Given the description of an element on the screen output the (x, y) to click on. 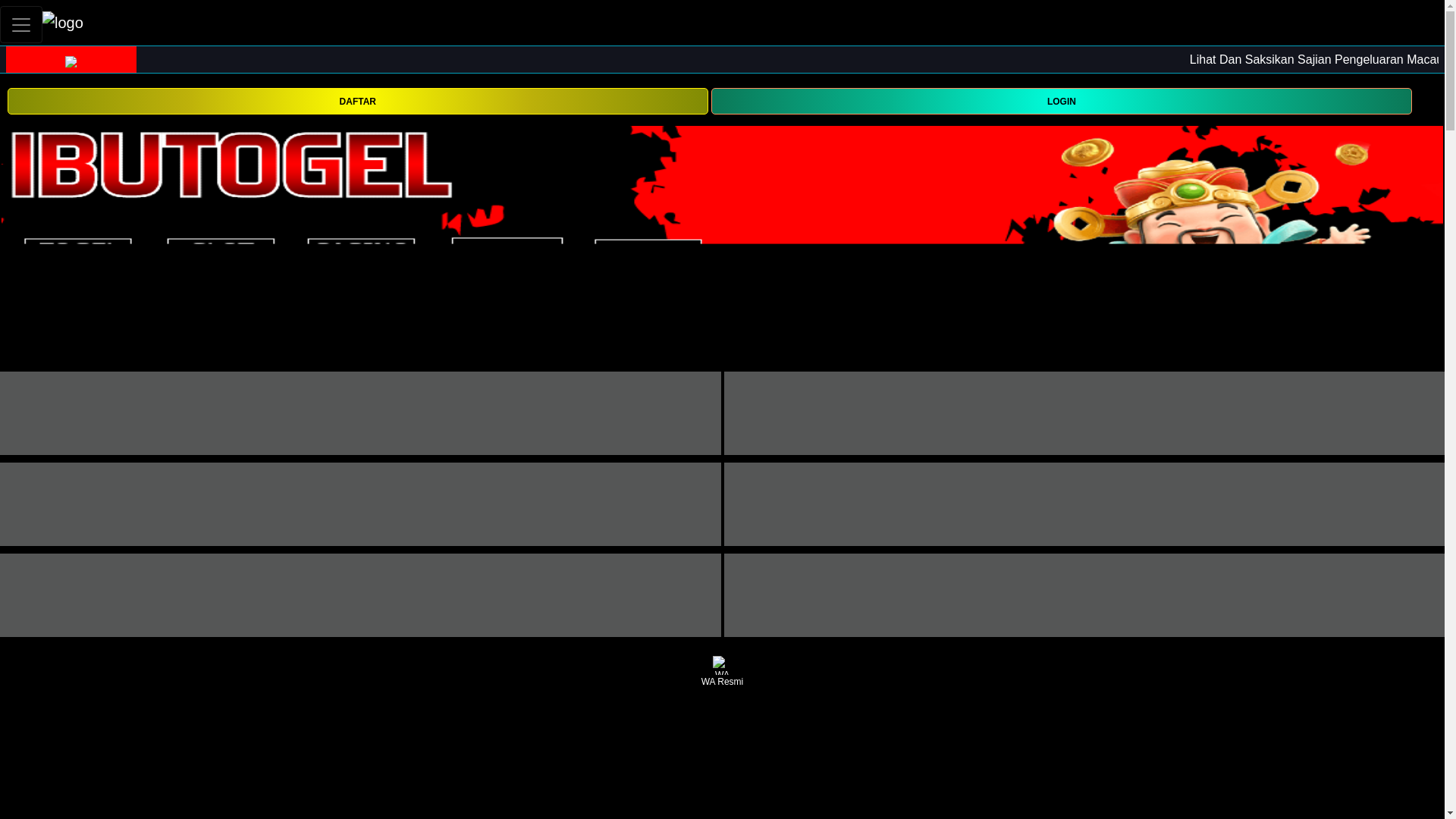
DAFTAR (357, 100)
LOGIN (1061, 100)
LOGIN (1061, 100)
WA Resmi (722, 672)
DAFTAR (357, 100)
